Given the description of an element on the screen output the (x, y) to click on. 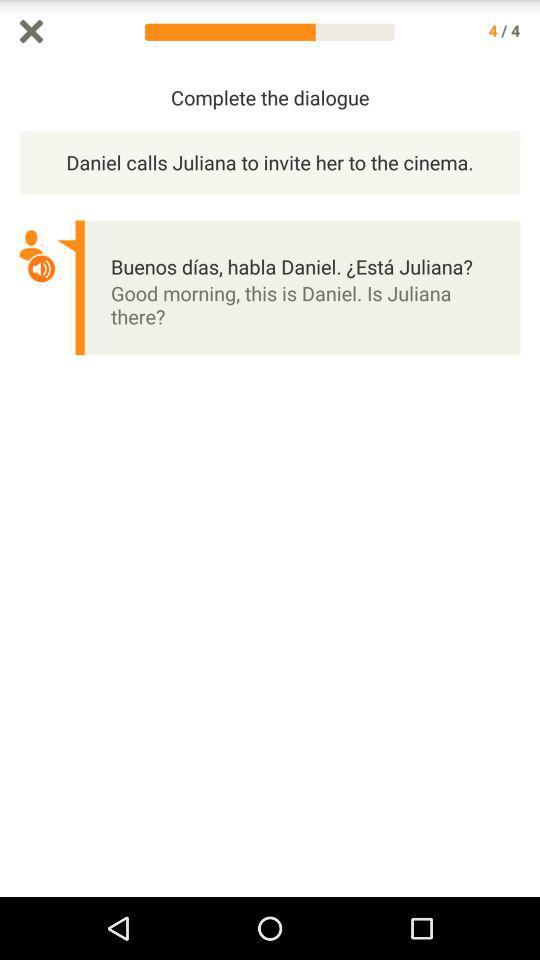
select a icon which is above volume icon which is on the left side of the page (31, 245)
